Given the description of an element on the screen output the (x, y) to click on. 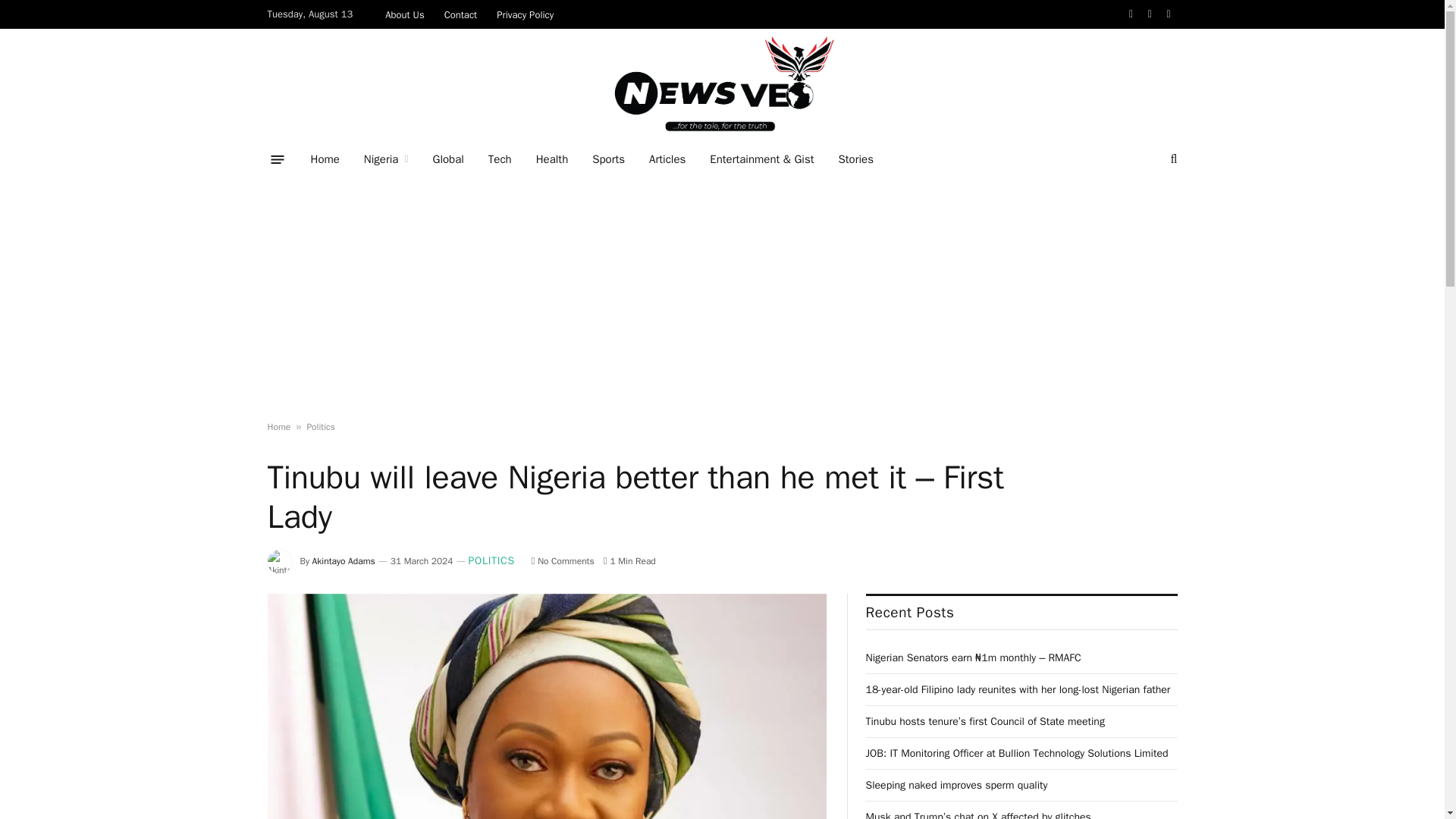
Nigeria (386, 159)
Contact (460, 14)
Global (448, 159)
Akintayo Adams (344, 561)
Stories (856, 159)
No Comments (562, 561)
Posts by Akintayo Adams (344, 561)
Home (277, 426)
About Us (404, 14)
Home (325, 159)
